Given the description of an element on the screen output the (x, y) to click on. 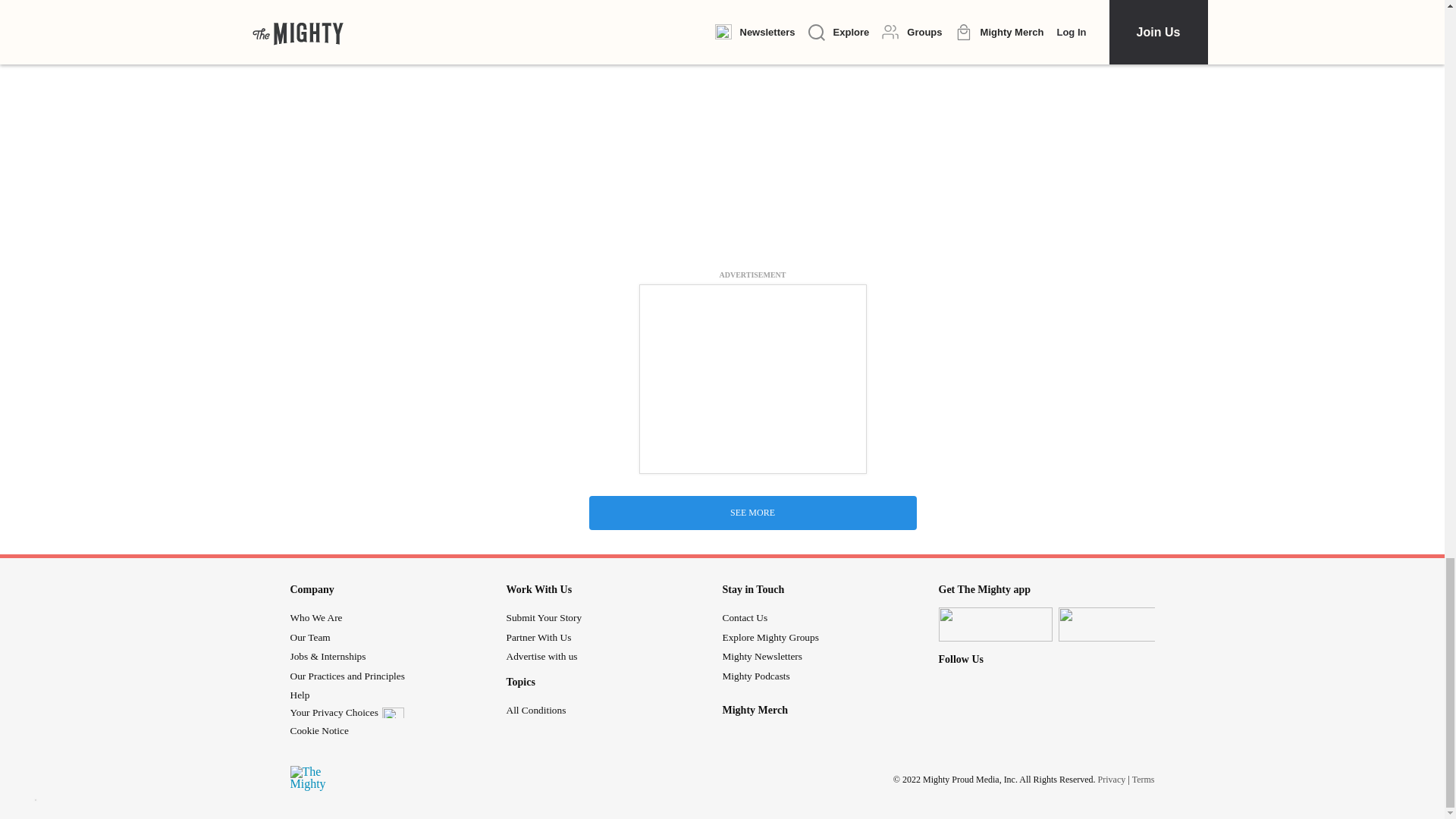
SEE MORE (751, 512)
Our Practices and Principles (346, 675)
Our Team (309, 636)
Who We Are (315, 617)
